Given the description of an element on the screen output the (x, y) to click on. 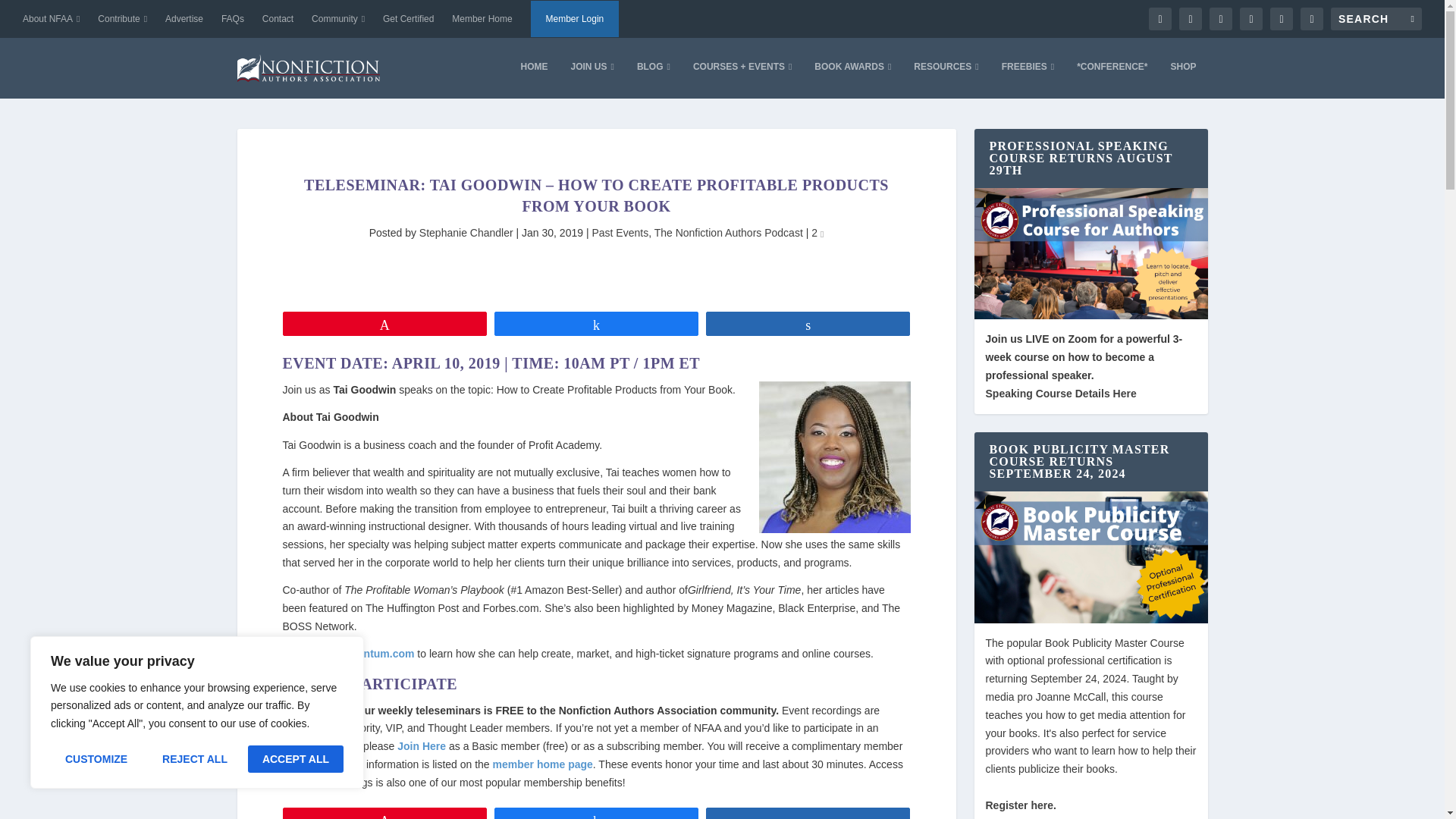
Member Login (575, 18)
Search for: (1376, 18)
About NFAA (51, 18)
Posts by Stephanie Chandler (466, 232)
Advertise (184, 18)
Member Home (481, 18)
CUSTOMIZE (95, 759)
Community (338, 18)
Get Certified (407, 18)
REJECT ALL (194, 759)
